Given the description of an element on the screen output the (x, y) to click on. 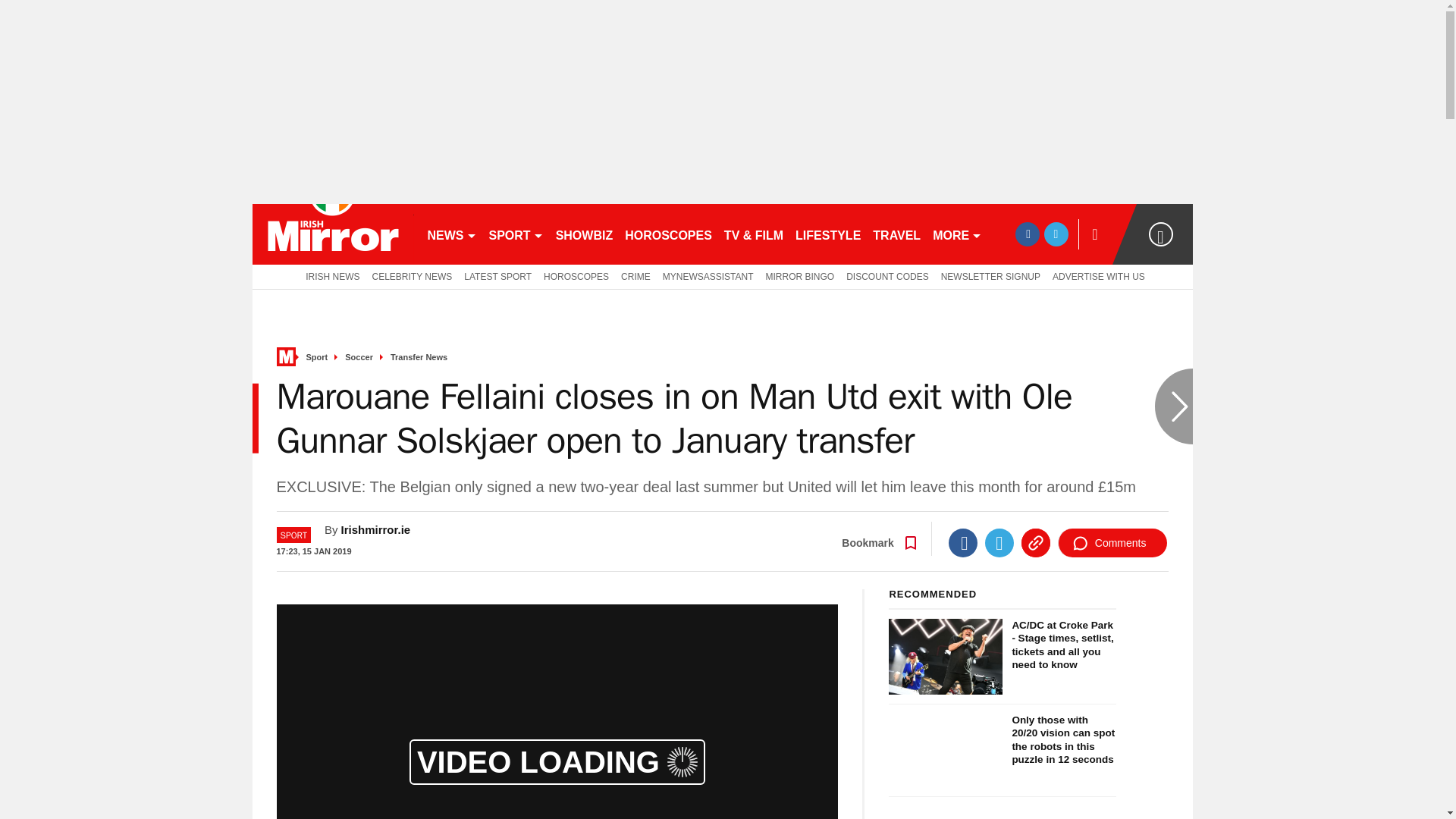
HOROSCOPES (575, 275)
NEWS (452, 233)
Facebook (962, 542)
facebook (1026, 233)
MIRROR BINGO (800, 275)
CELEBRITY NEWS (412, 275)
LATEST SPORT (497, 275)
MORE (957, 233)
Comments (1112, 542)
SHOWBIZ (585, 233)
